Given the description of an element on the screen output the (x, y) to click on. 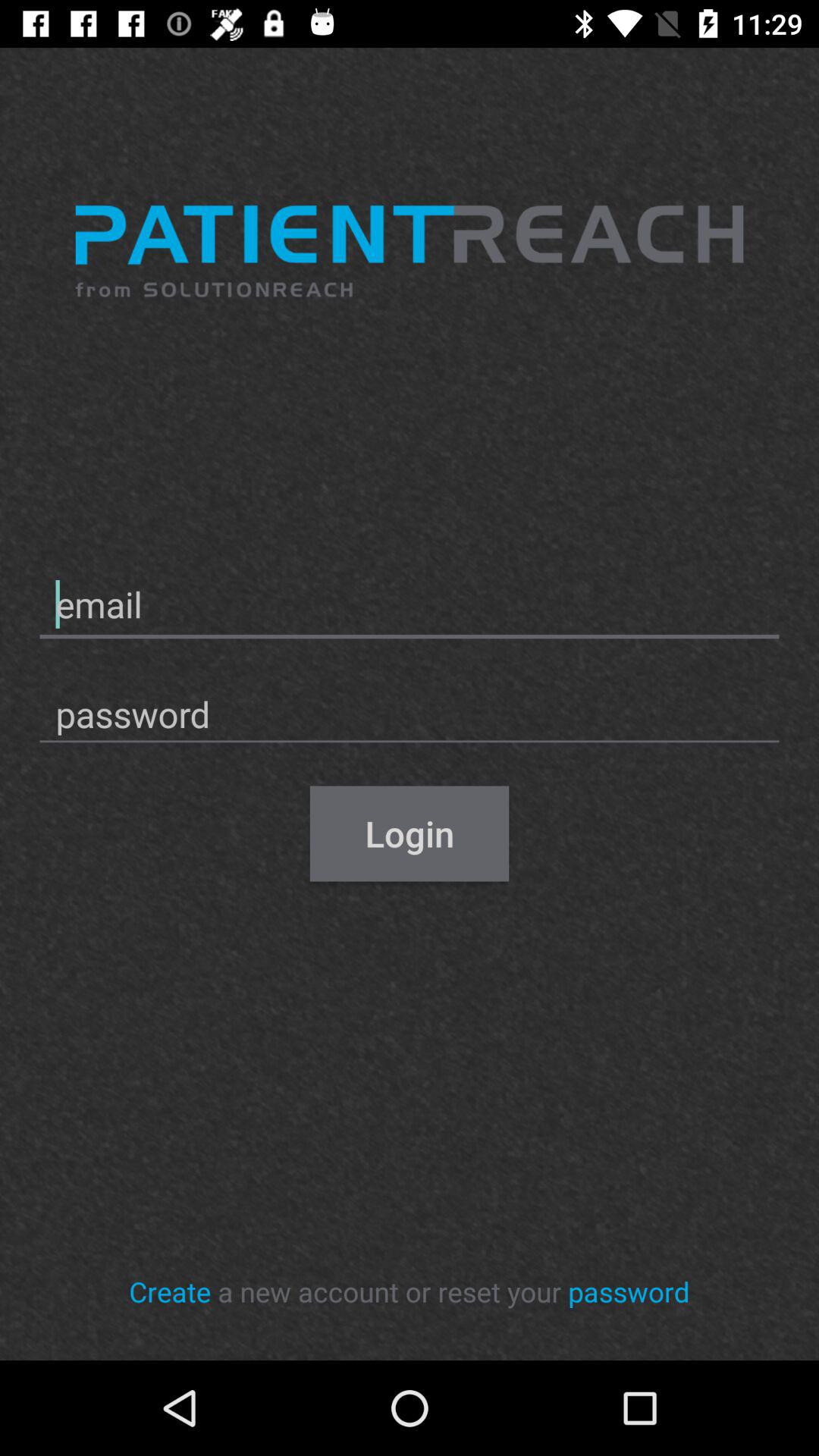
select icon to the left of the a new account item (170, 1291)
